Given the description of an element on the screen output the (x, y) to click on. 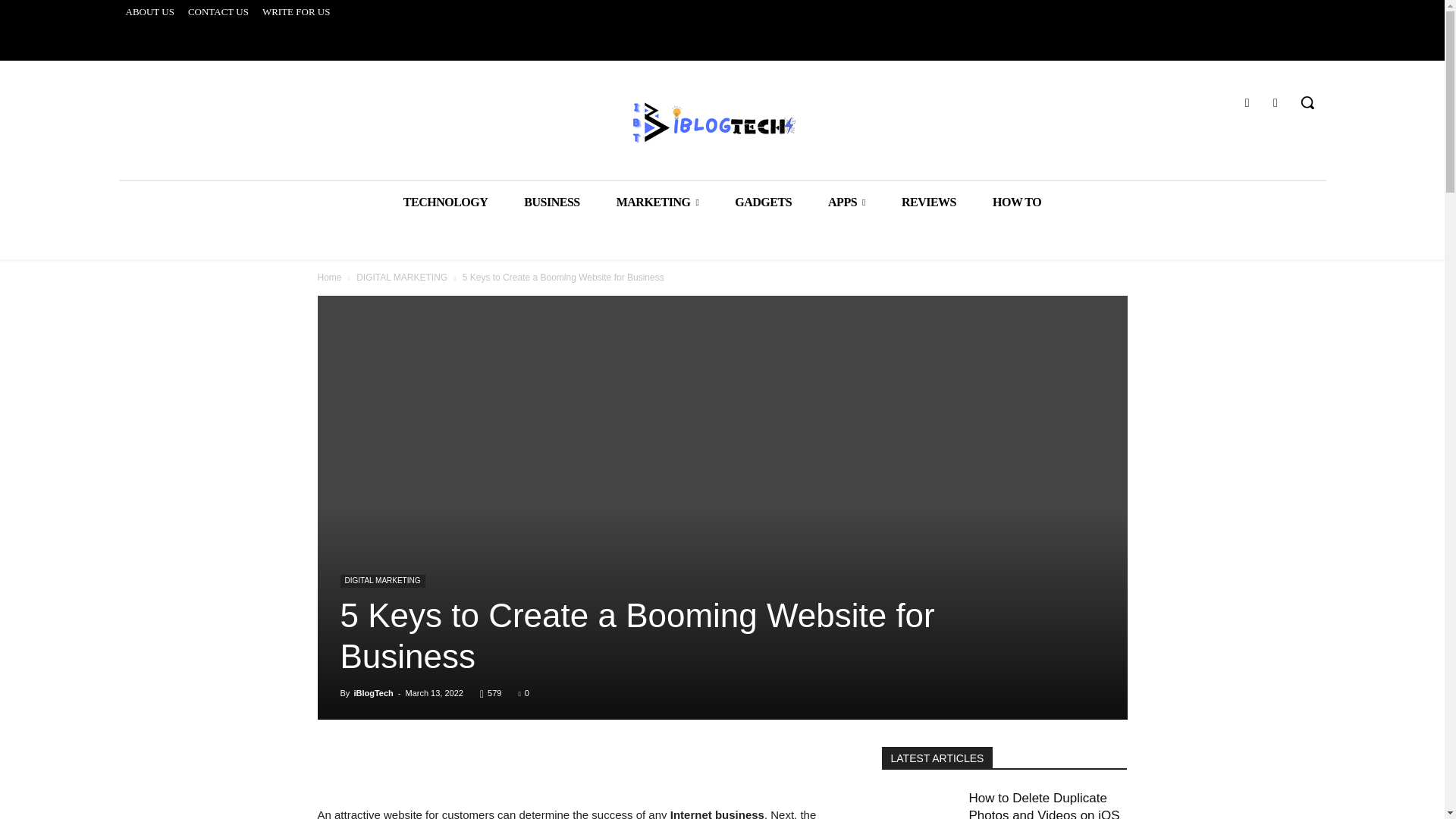
REVIEWS (928, 201)
Facebook (1246, 102)
BUSINESS (550, 201)
GADGETS (762, 201)
MARKETING (657, 201)
CONTACT US (218, 12)
WRITE FOR US (296, 12)
HOW TO (1016, 201)
Twitter (1275, 102)
View all posts in DIGITAL MARKETING (401, 276)
